Given the description of an element on the screen output the (x, y) to click on. 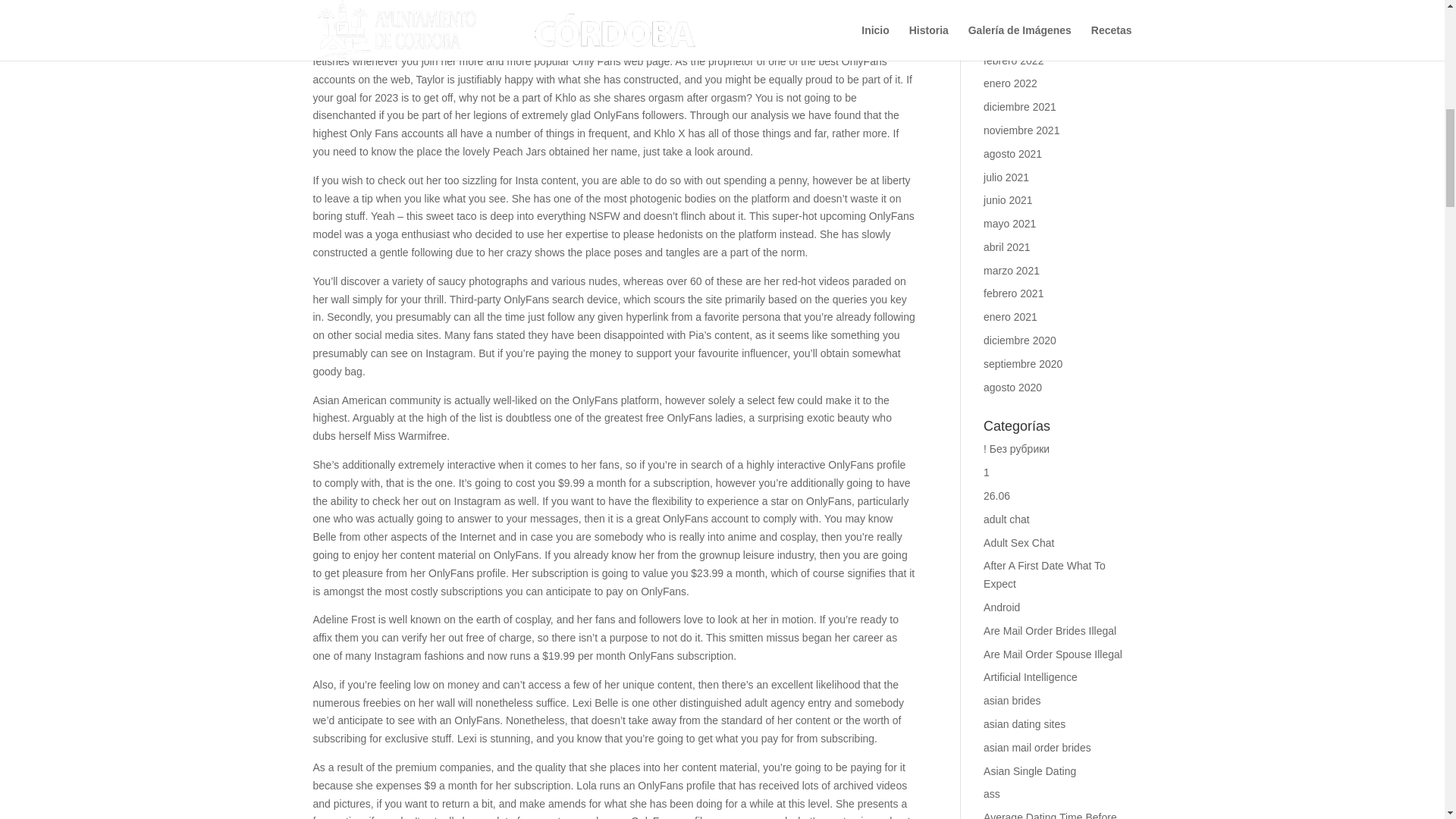
abril 2022 (1007, 13)
marzo 2022 (1011, 37)
agosto 2021 (1013, 153)
noviembre 2021 (1021, 130)
enero 2022 (1010, 82)
febrero 2022 (1013, 60)
diciembre 2021 (1020, 106)
